Given the description of an element on the screen output the (x, y) to click on. 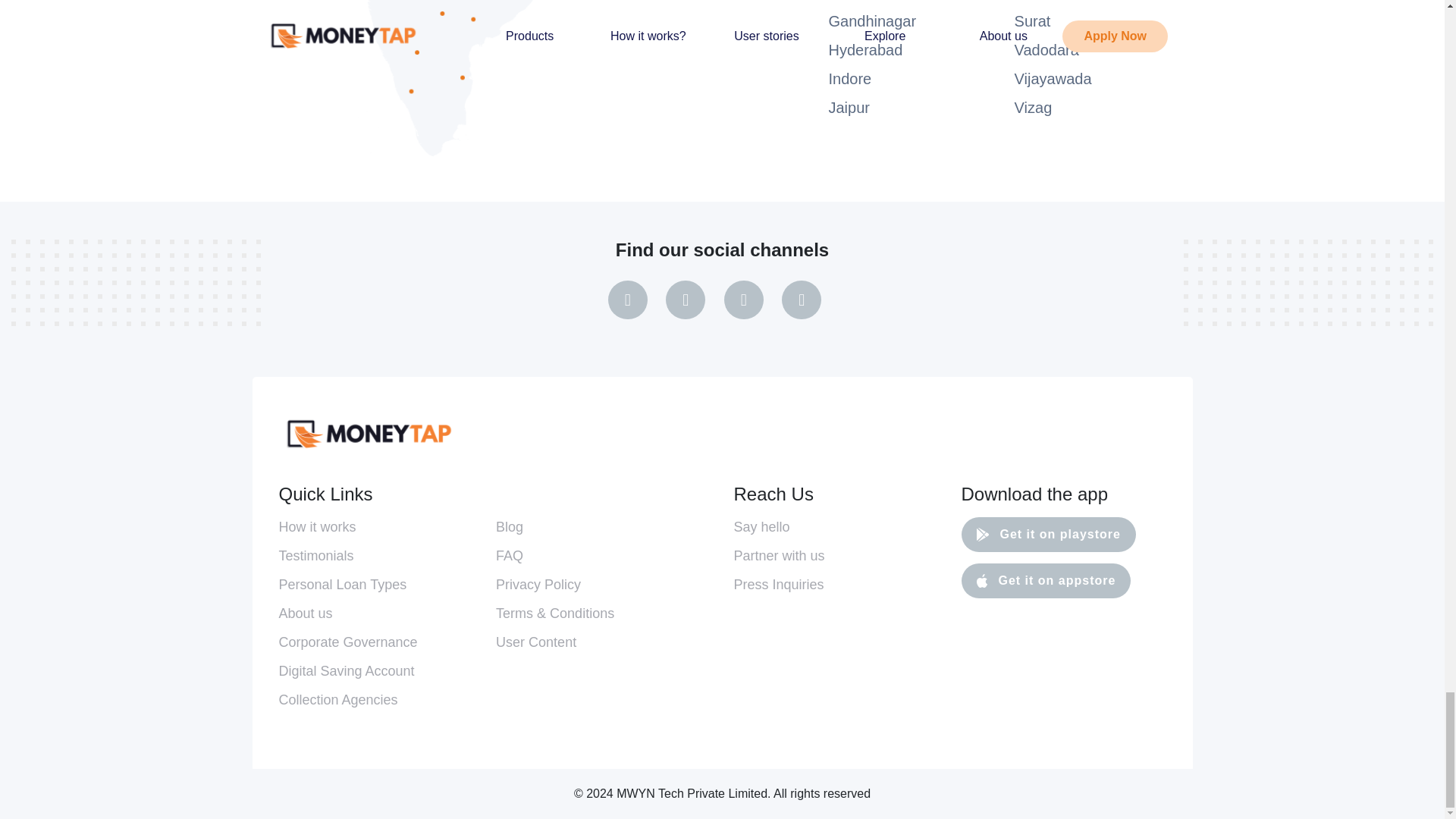
Personal Loan In Surat (1032, 21)
Personal Loan In Vadodara (1046, 49)
Personal Loan In Hyderabad (865, 49)
Personal Loan In Jaipur (848, 107)
Personal Loan In Gandhinagar (871, 21)
Personal Loan In Indore (849, 78)
